Given the description of an element on the screen output the (x, y) to click on. 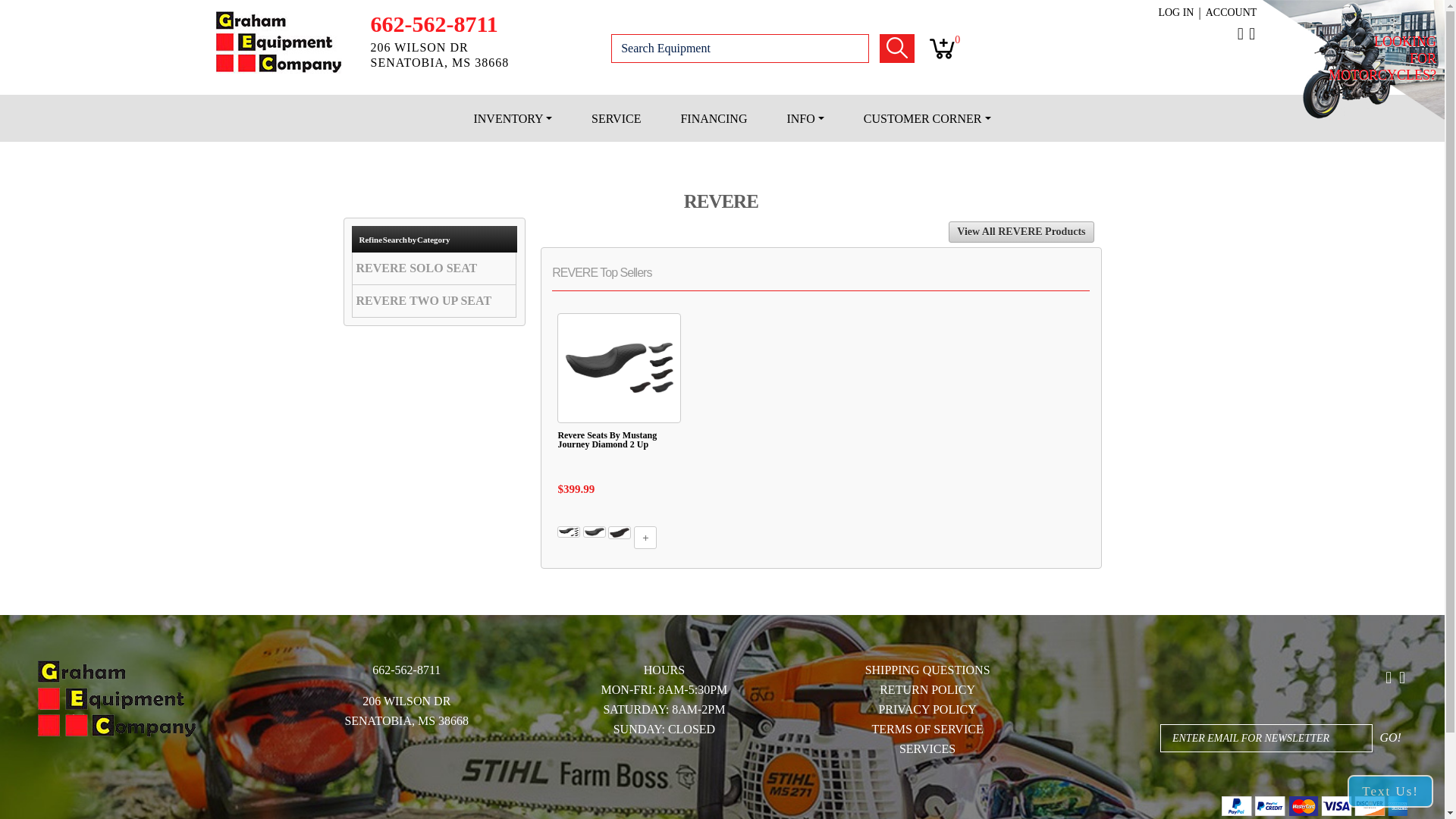
LOG IN (1175, 13)
662-562-8711 (433, 23)
INVENTORY (512, 118)
fotor logo (116, 699)
0 (942, 48)
more images (644, 537)
ACCOUNT (1231, 13)
CUSTOMER CORNER (917, 118)
cart icon (942, 48)
Go! (1390, 736)
payment method (1314, 802)
Go! (896, 48)
welcome to graham equipment (277, 42)
INFO (805, 118)
FINANCING (714, 118)
